Given the description of an element on the screen output the (x, y) to click on. 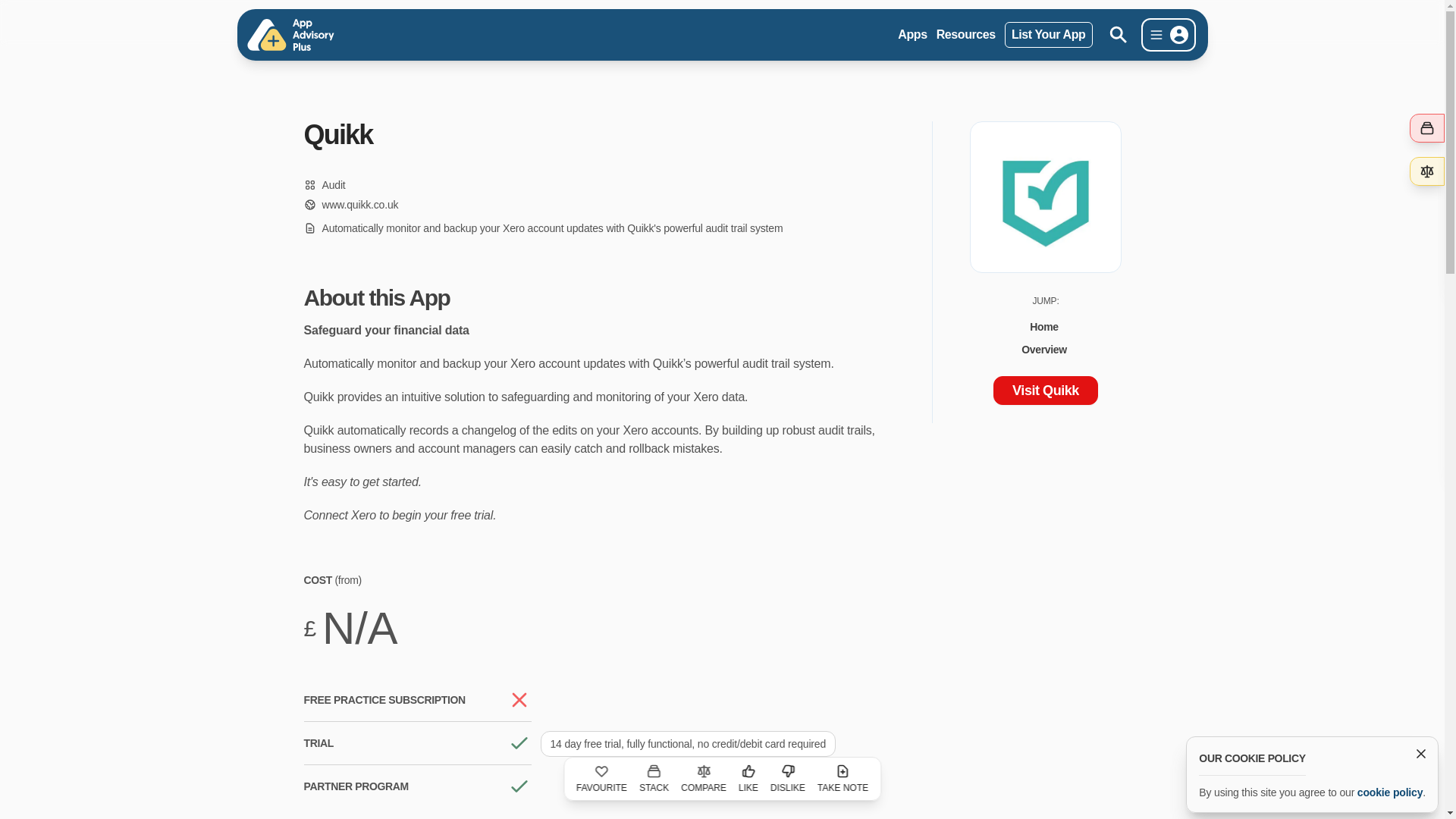
Visit Quikk (1044, 389)
www.quikk.co.uk (349, 204)
List Your App (1048, 34)
Audit (333, 184)
Home (1045, 326)
Apps (912, 34)
Overview (1045, 349)
Resources (965, 34)
